Given the description of an element on the screen output the (x, y) to click on. 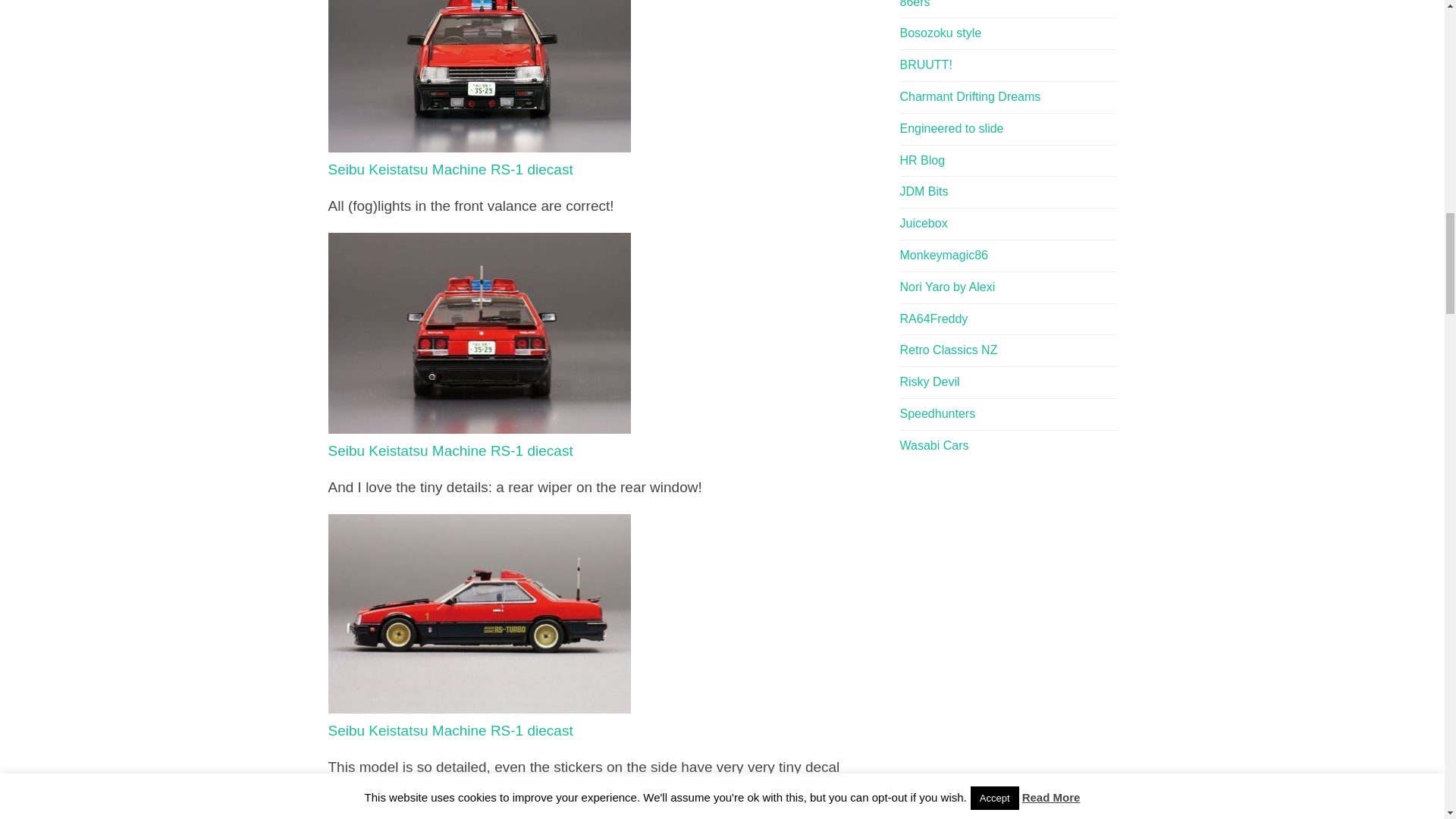
Seibu Keistatsu Machine RS-1 diecast (478, 158)
Seibu Keistatsu Machine RS-1 diecast (478, 719)
Seibu Keistatsu Machine RS-1 diecast (478, 614)
Seibu Keistatsu Machine RS-1 diecast (478, 76)
Seibu Keistatsu Machine RS-1 diecast (478, 439)
Seibu Keistatsu Machine RS-1 diecast (478, 333)
Seibu Keistatsu Machine RS-1 diecast (478, 439)
Seibu Keistatsu Machine RS-1 diecast (478, 158)
Seibu Keistatsu Machine RS-1 diecast (478, 719)
